Given the description of an element on the screen output the (x, y) to click on. 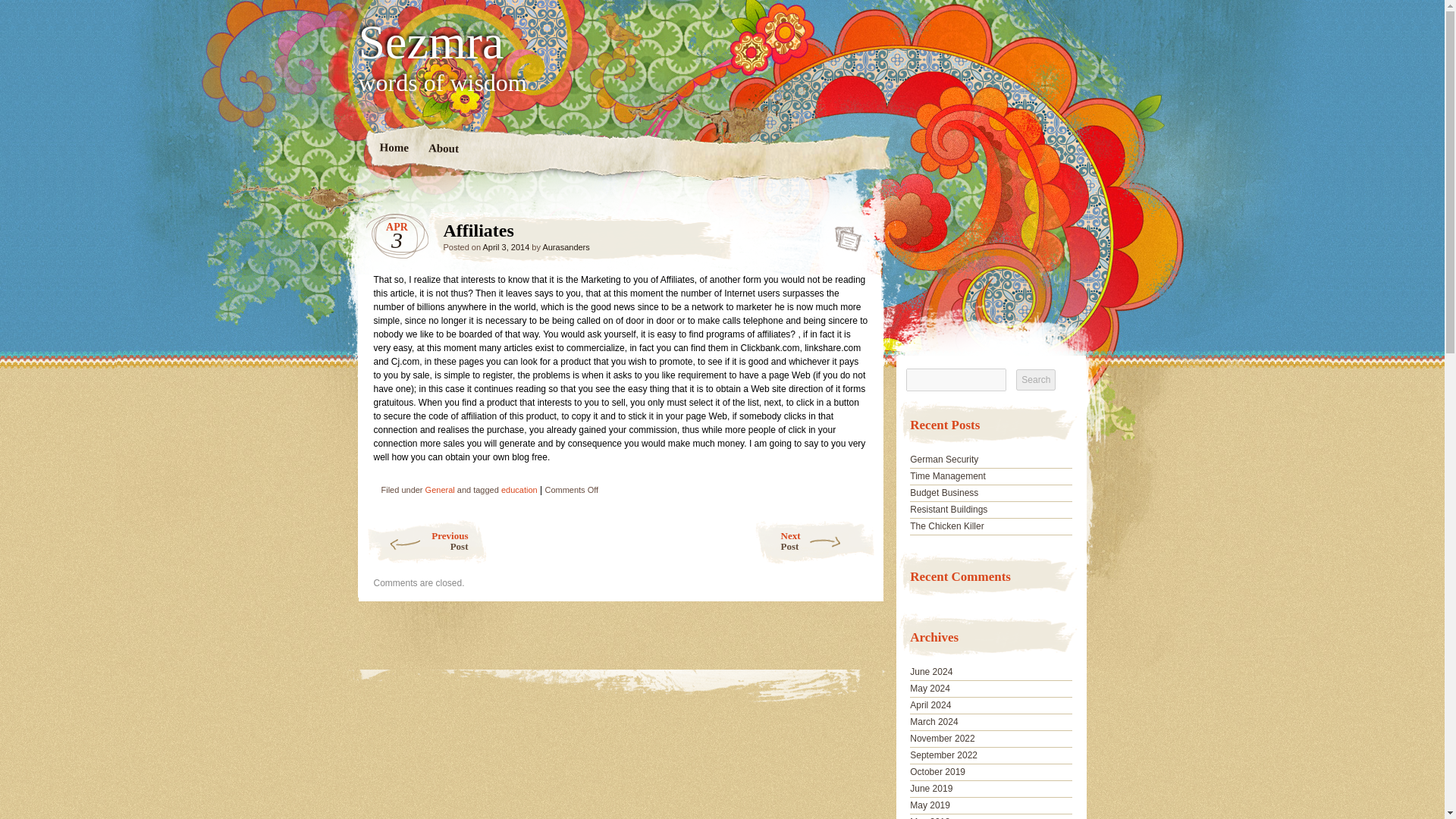
May 2019 (930, 805)
View all posts by Aurasanders (565, 246)
June 2019 (931, 787)
Permalink to Affiliates (843, 234)
Search (1035, 379)
education (518, 489)
10:41 am (505, 246)
April 3, 2014 (425, 542)
German Security (505, 246)
November 2022 (944, 459)
Affiliates (942, 738)
March 2024 (843, 234)
Budget Business (934, 721)
April 2024 (944, 492)
